Given the description of an element on the screen output the (x, y) to click on. 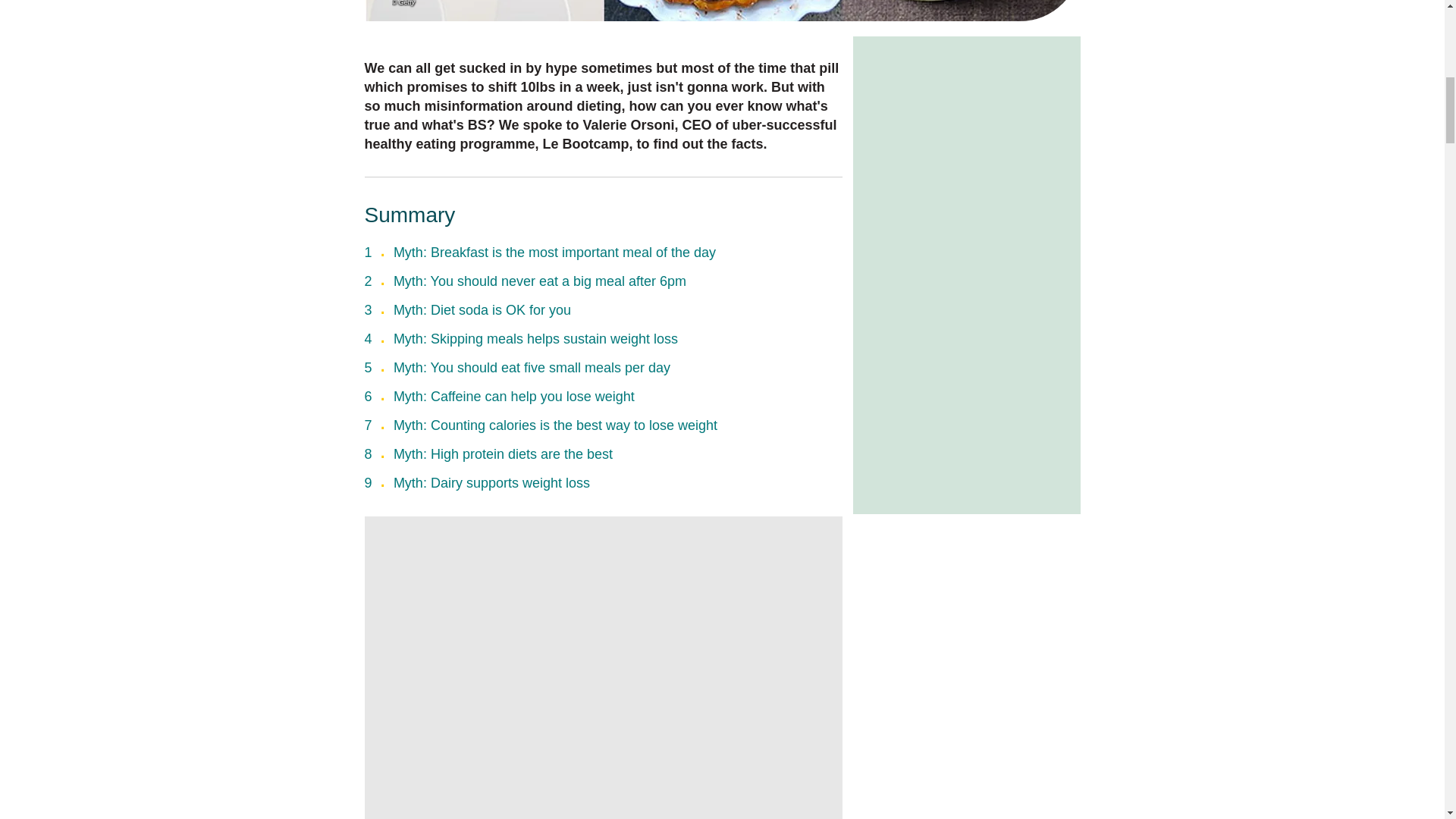
Myth: High protein diets are the best (502, 453)
Myth: Diet soda is OK for you (481, 309)
Myth: You should eat five small meals per day (531, 367)
Myth: You should never eat a big meal after 6pm (539, 281)
Myth: Skipping meals helps sustain weight loss (535, 338)
Myth: Caffeine can help you lose weight (513, 396)
Myth: Dairy supports weight loss (491, 482)
Myth: Counting calories is the best way to lose weight (555, 425)
Myth: Breakfast is the most important meal of the day (554, 252)
